Given the description of an element on the screen output the (x, y) to click on. 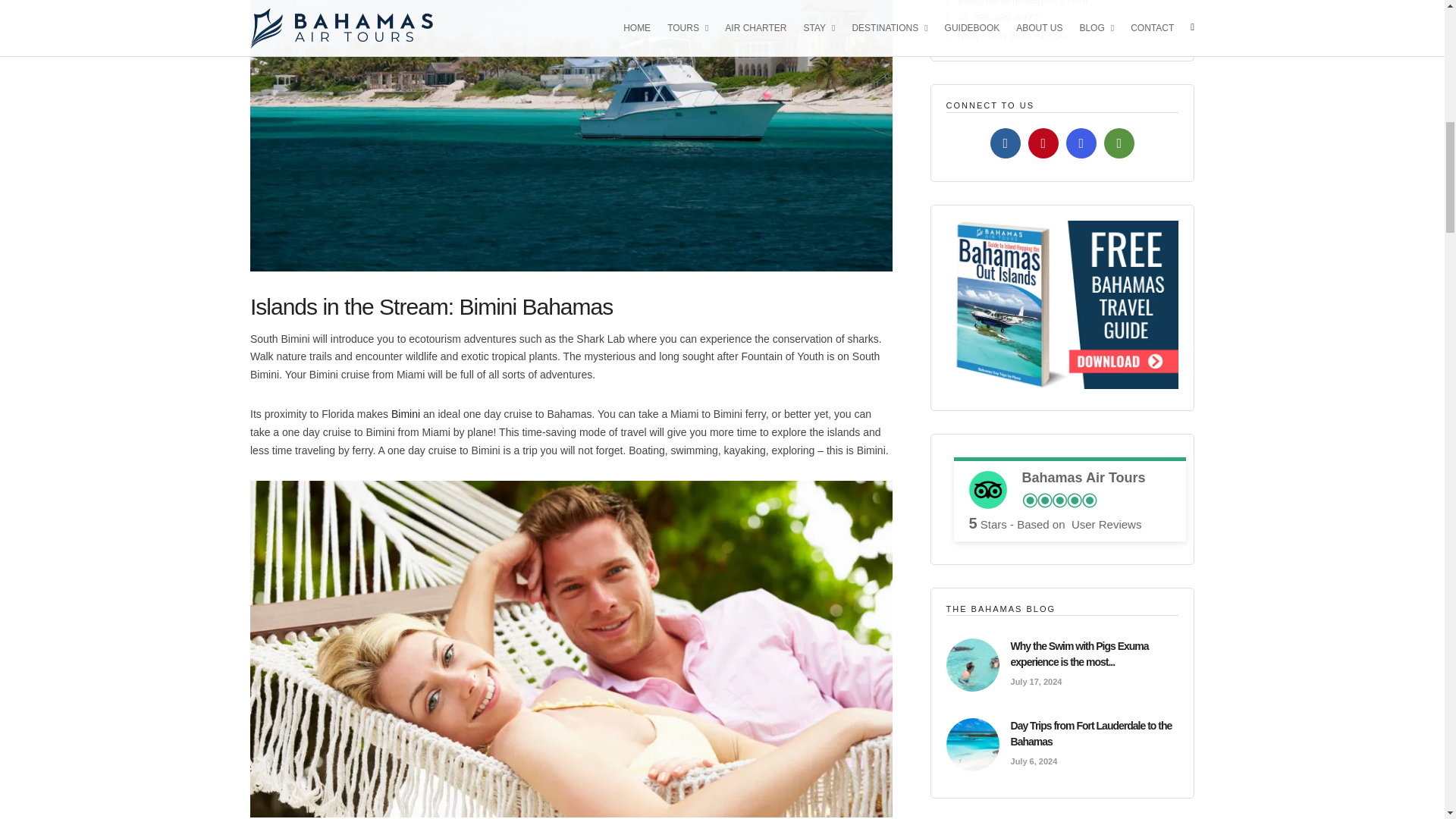
Facebook (1005, 142)
Instagram (1080, 142)
Pinterest (1042, 142)
